Given the description of an element on the screen output the (x, y) to click on. 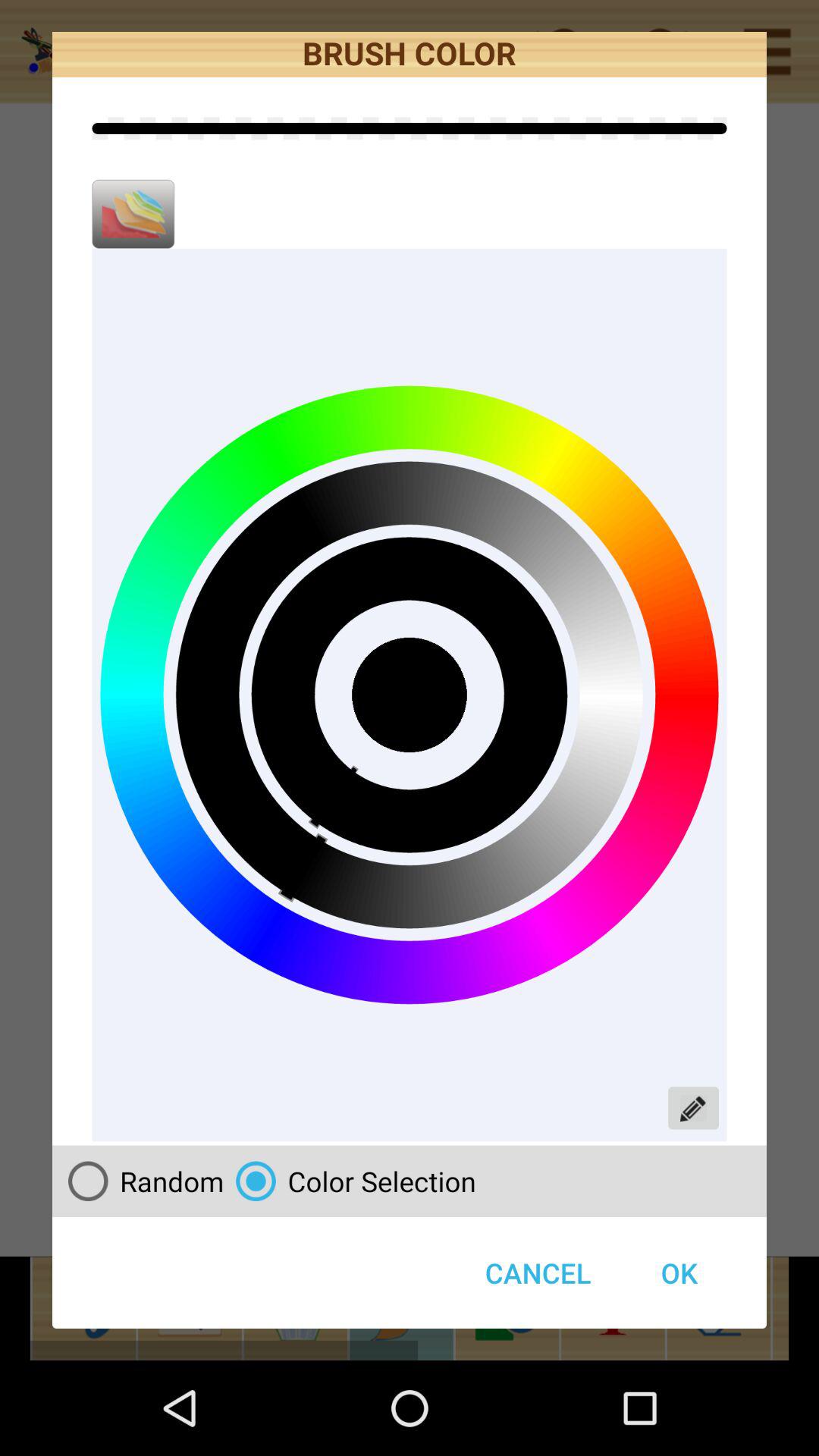
turn on icon next to the color selection item (140, 1181)
